Given the description of an element on the screen output the (x, y) to click on. 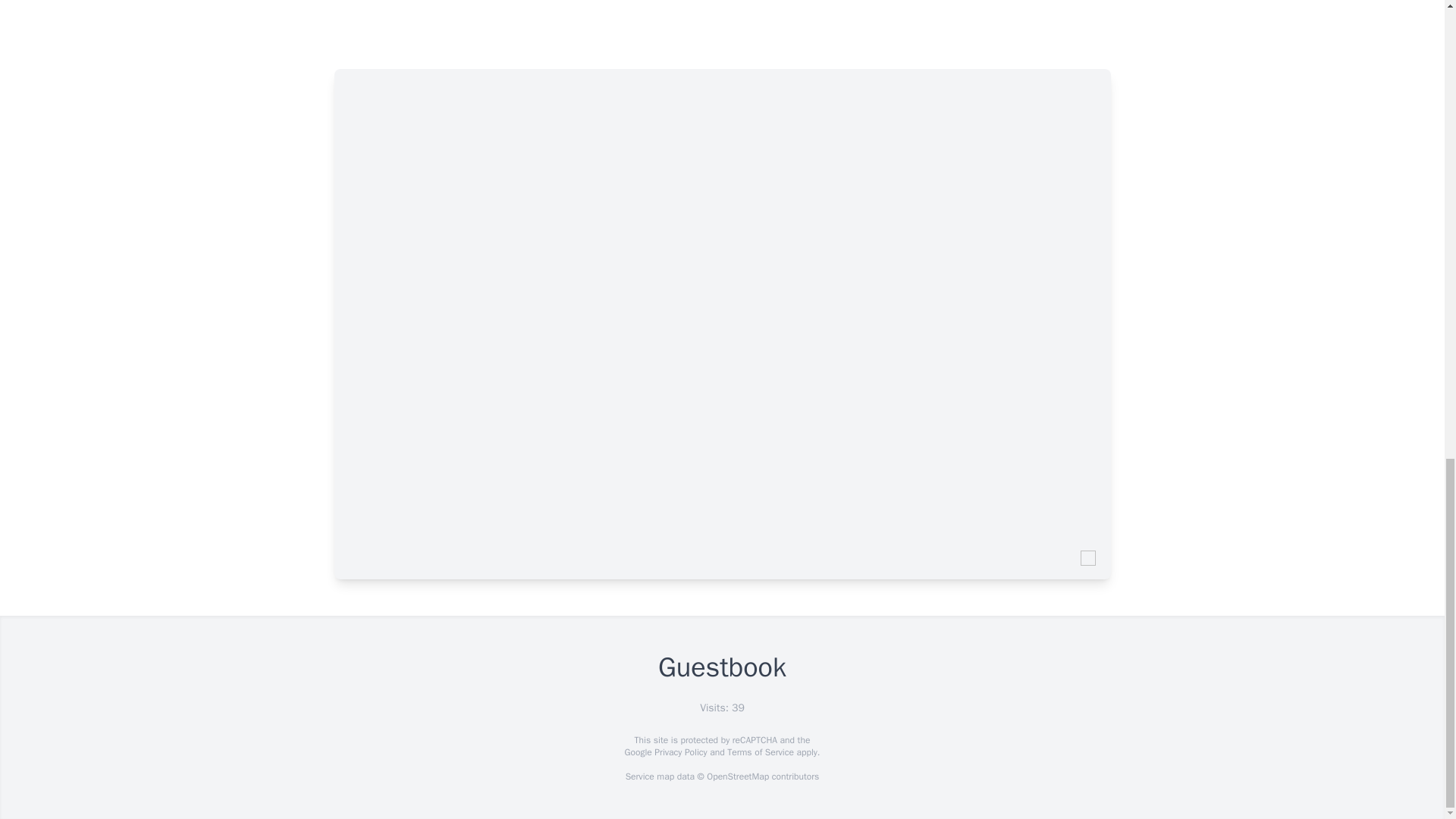
Privacy Policy (679, 752)
OpenStreetMap (737, 776)
Terms of Service (759, 752)
